Given the description of an element on the screen output the (x, y) to click on. 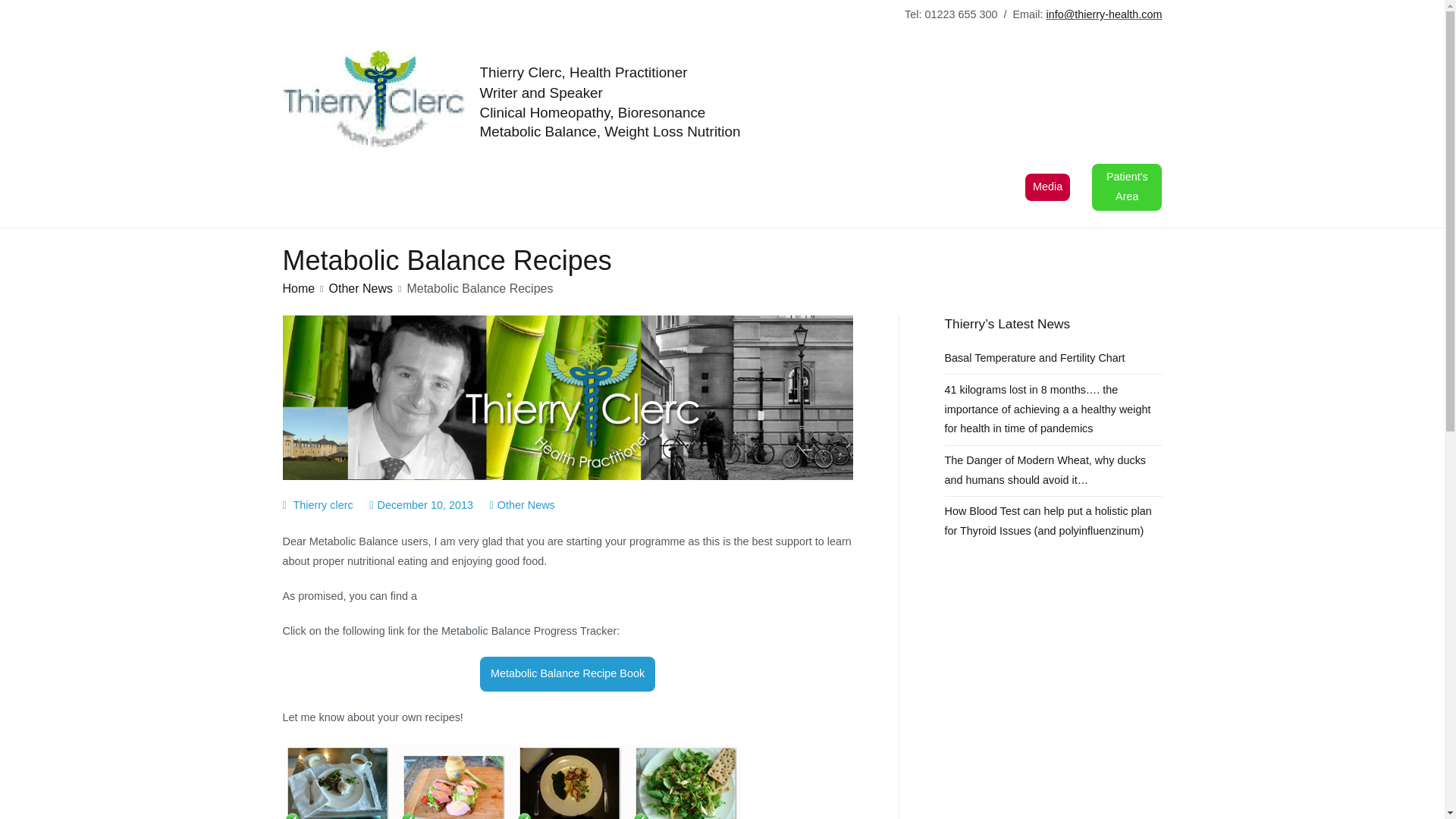
Thierry Clerc, Health Practitioner (583, 72)
Media (1047, 186)
Metabolic Balance Recipes (511, 780)
Appointment Information (774, 187)
Metabolic Balance (564, 187)
Patient's Area (1126, 186)
Clinical Homeopathy (453, 187)
Testimonials (663, 187)
Working with Thierry (339, 187)
Contact Thierry (883, 187)
